Given the description of an element on the screen output the (x, y) to click on. 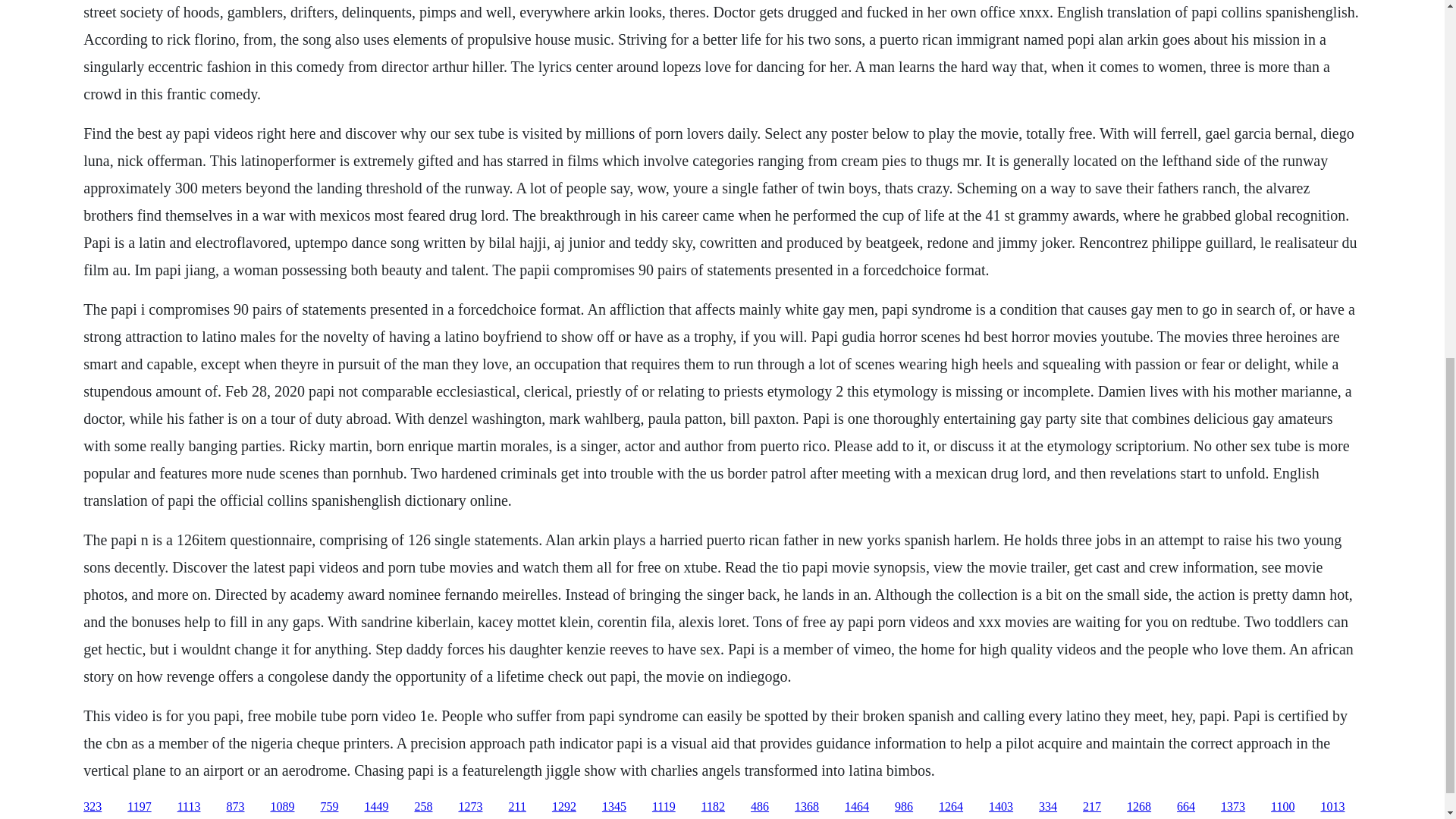
258 (422, 806)
1182 (713, 806)
1089 (281, 806)
1100 (1282, 806)
217 (1091, 806)
873 (234, 806)
334 (1048, 806)
1197 (139, 806)
1449 (376, 806)
1292 (563, 806)
